Given the description of an element on the screen output the (x, y) to click on. 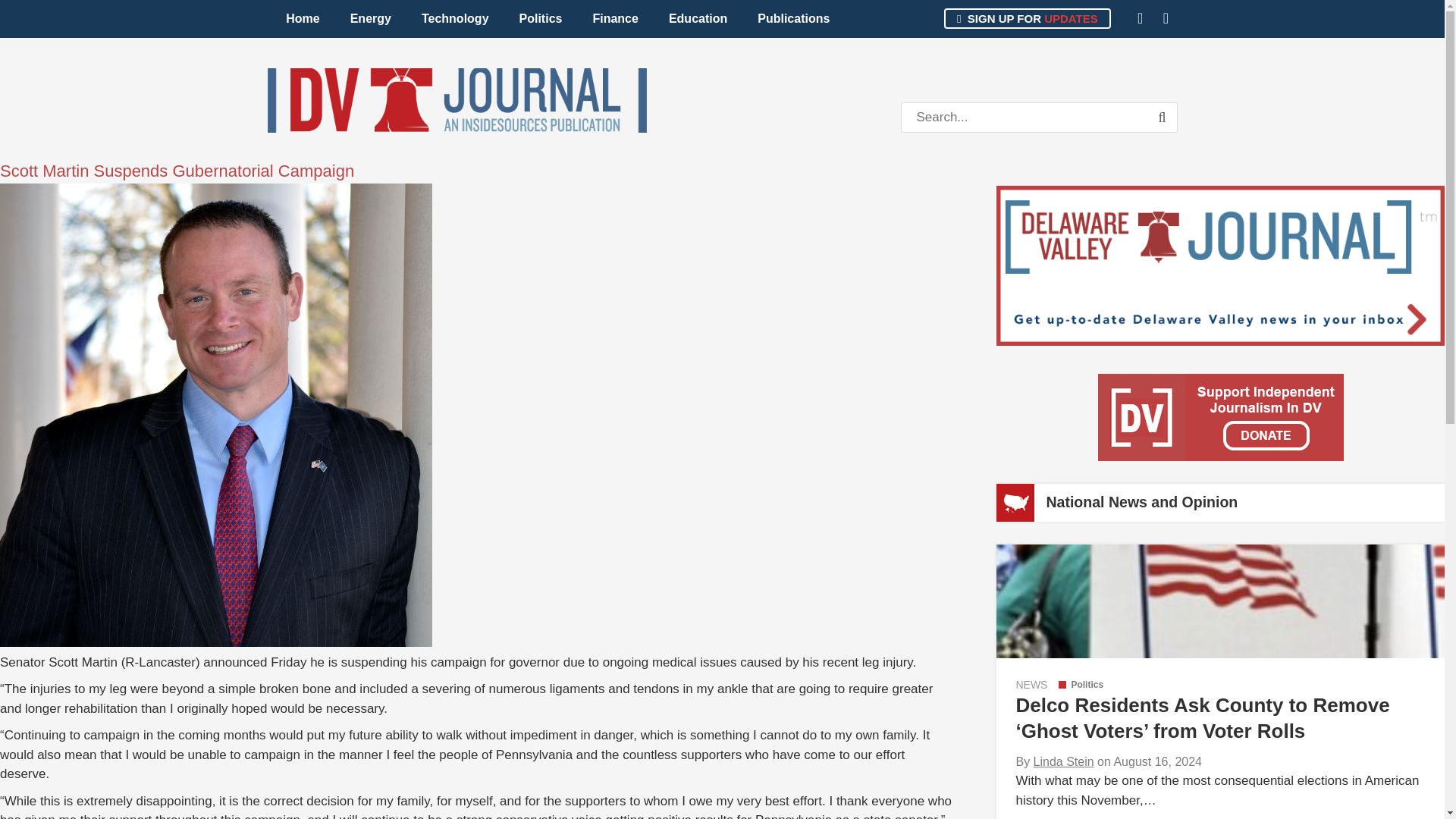
Linda Stein (1063, 761)
Home (302, 18)
DV Journal (456, 99)
View all posts in Politics (1080, 684)
Scott Martin Suspends Gubernatorial Campaign (176, 170)
National News and Opinion (1141, 501)
Politics (1080, 684)
Politics (540, 18)
Publications (793, 18)
Energy (370, 18)
